Given the description of an element on the screen output the (x, y) to click on. 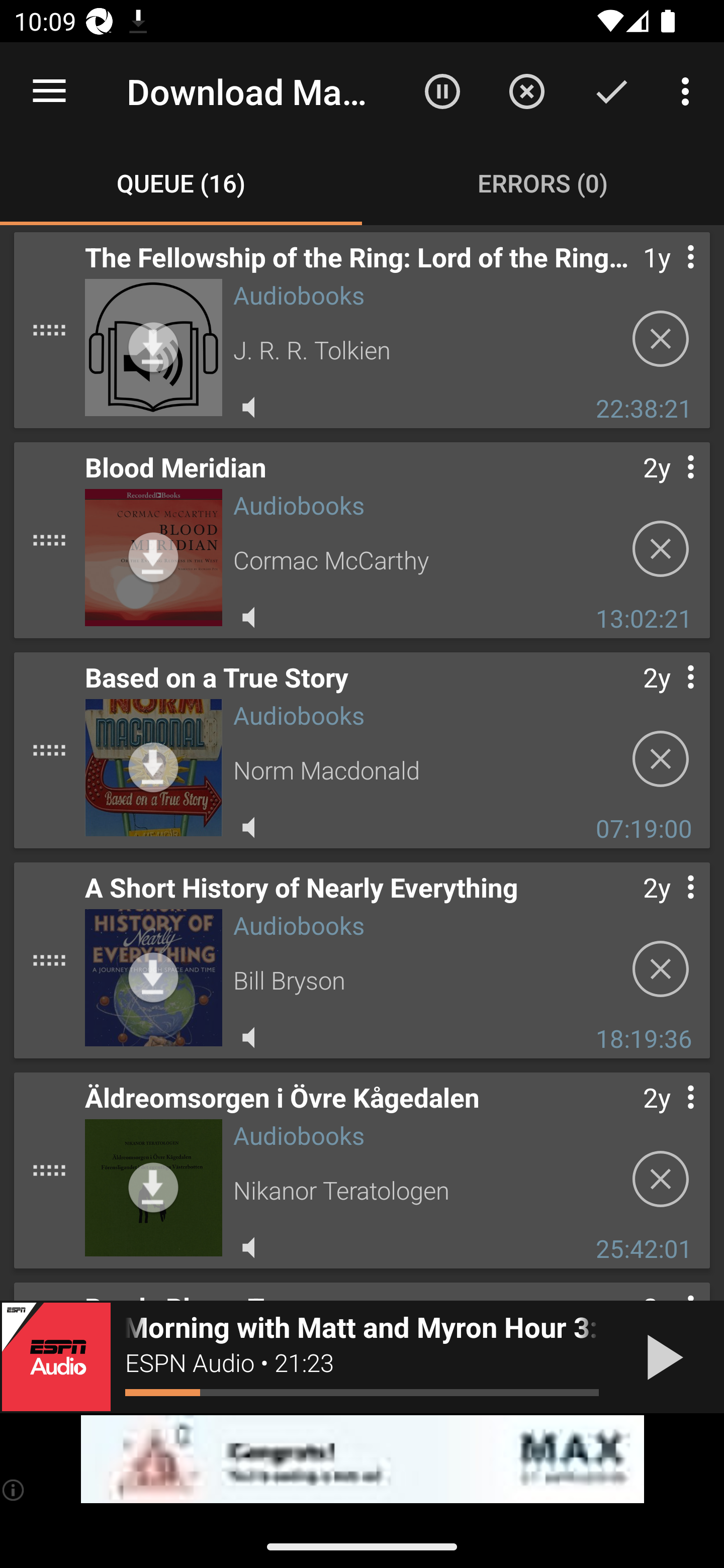
Open navigation sidebar (49, 91)
Pause downloads... (442, 90)
Cancel Downloads (526, 90)
Action Mode (611, 90)
More options (688, 90)
Errors (0) ERRORS (0) (543, 183)
Contextual menu (668, 276)
Cancel download (660, 338)
Contextual menu (668, 486)
Blood Meridian (153, 557)
Cancel download (660, 548)
Contextual menu (668, 696)
Based on a True Story (153, 767)
Cancel download (660, 758)
Contextual menu (668, 906)
A Short History of Nearly Everything (153, 977)
Cancel download (660, 968)
Contextual menu (668, 1116)
Äldreomsorgen i Övre Kågedalen (153, 1187)
Cancel download (660, 1178)
Play / Pause (660, 1356)
app-monetization (362, 1459)
(i) (14, 1489)
